Given the description of an element on the screen output the (x, y) to click on. 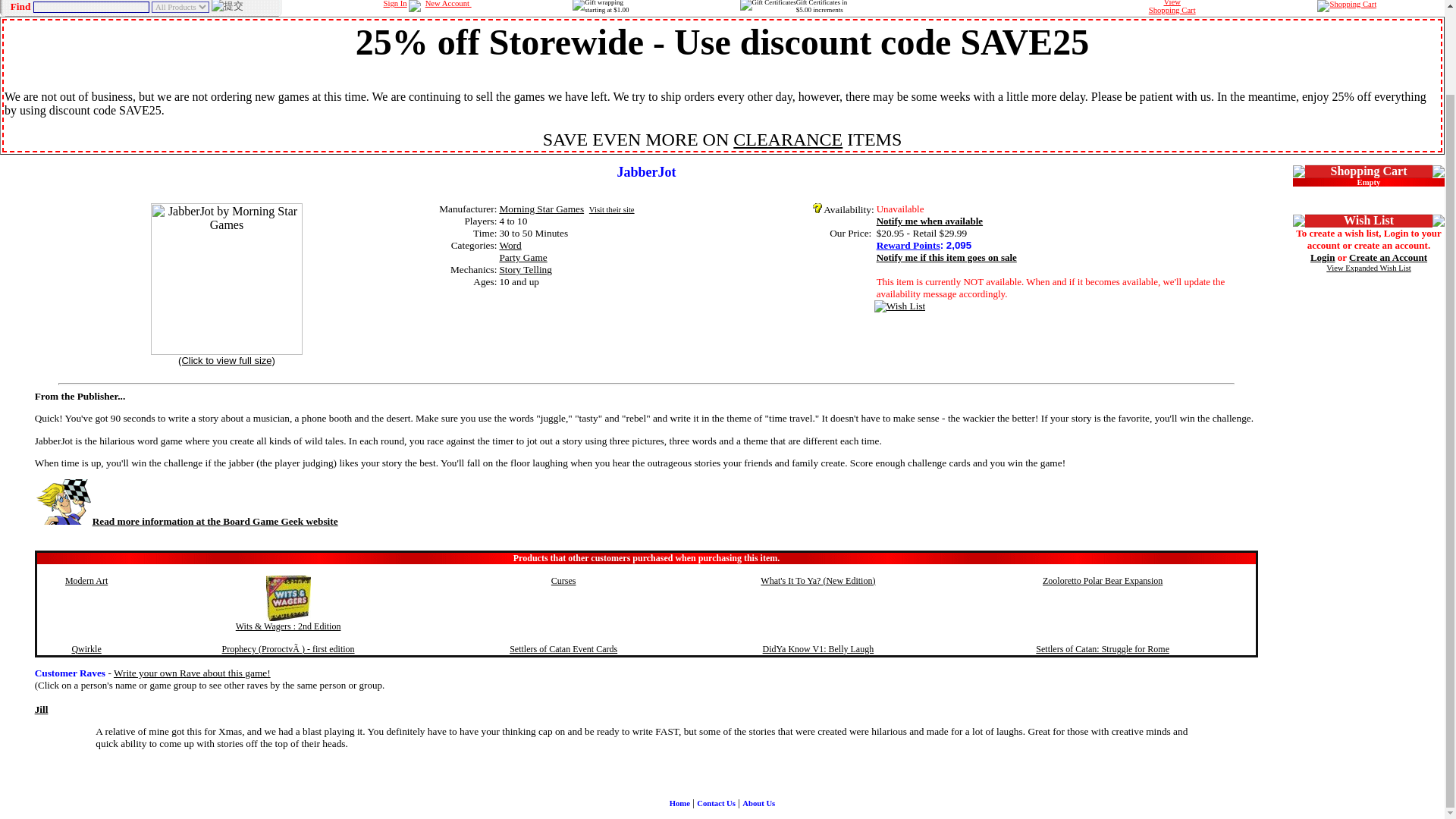
Morning Star Games (541, 208)
Modern Art (86, 580)
Visit their site (611, 209)
CLEARANCE (788, 139)
New Account  (448, 3)
Notify me when available (929, 220)
Word (510, 244)
Sign In (395, 3)
Story Telling (525, 269)
Read more information at the Board Game Geek website (185, 521)
Reward Points (1171, 7)
Notify me if this item goes on sale (908, 244)
Party Game (946, 256)
